Given the description of an element on the screen output the (x, y) to click on. 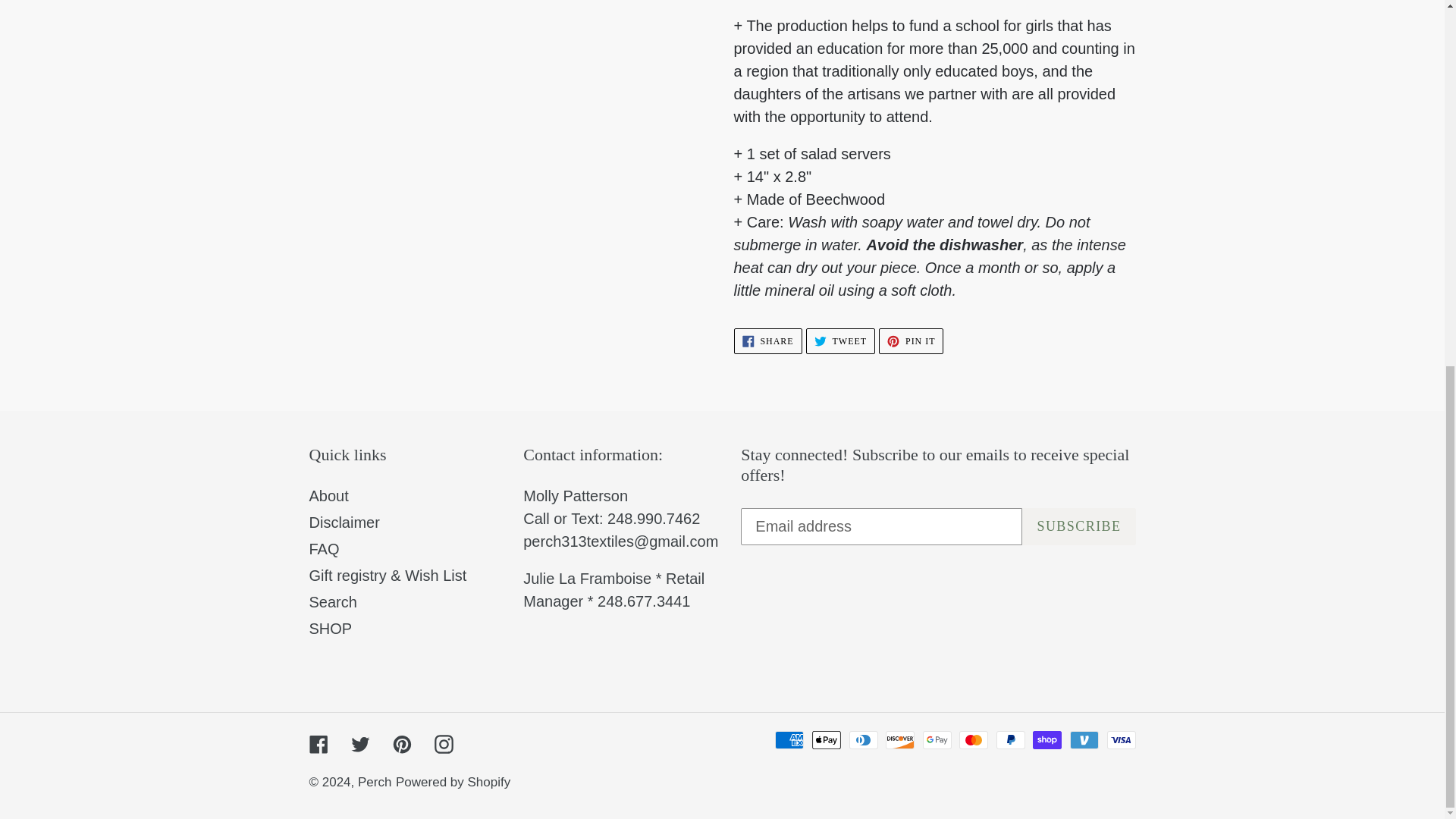
FAQ (323, 548)
About (328, 495)
Powered by Shopify (453, 781)
SHOP (330, 628)
SUBSCRIBE (911, 340)
Perch (1078, 526)
Search (840, 340)
